Given the description of an element on the screen output the (x, y) to click on. 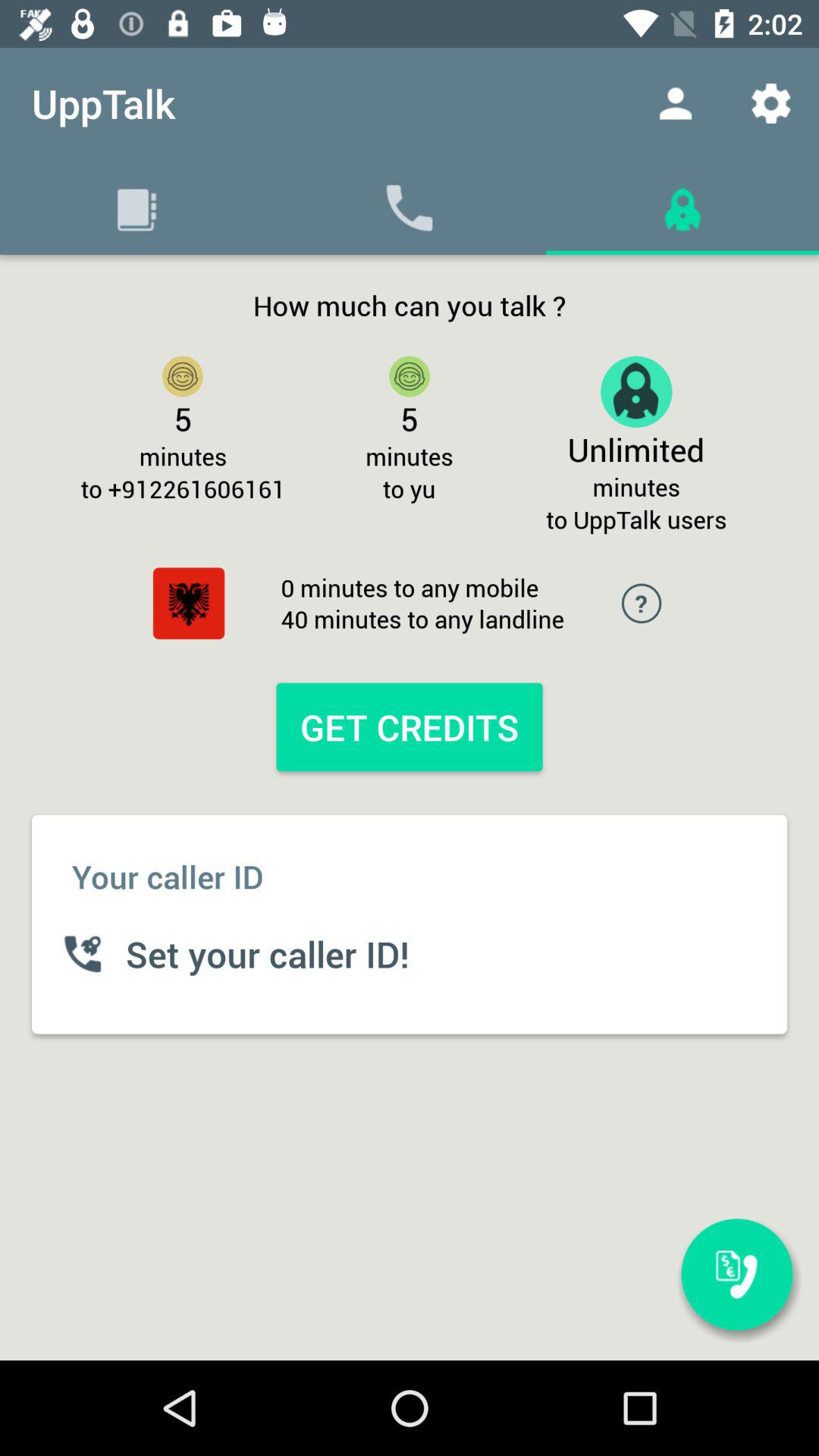
select item to the left of the 0 minutes to item (188, 603)
